Given the description of an element on the screen output the (x, y) to click on. 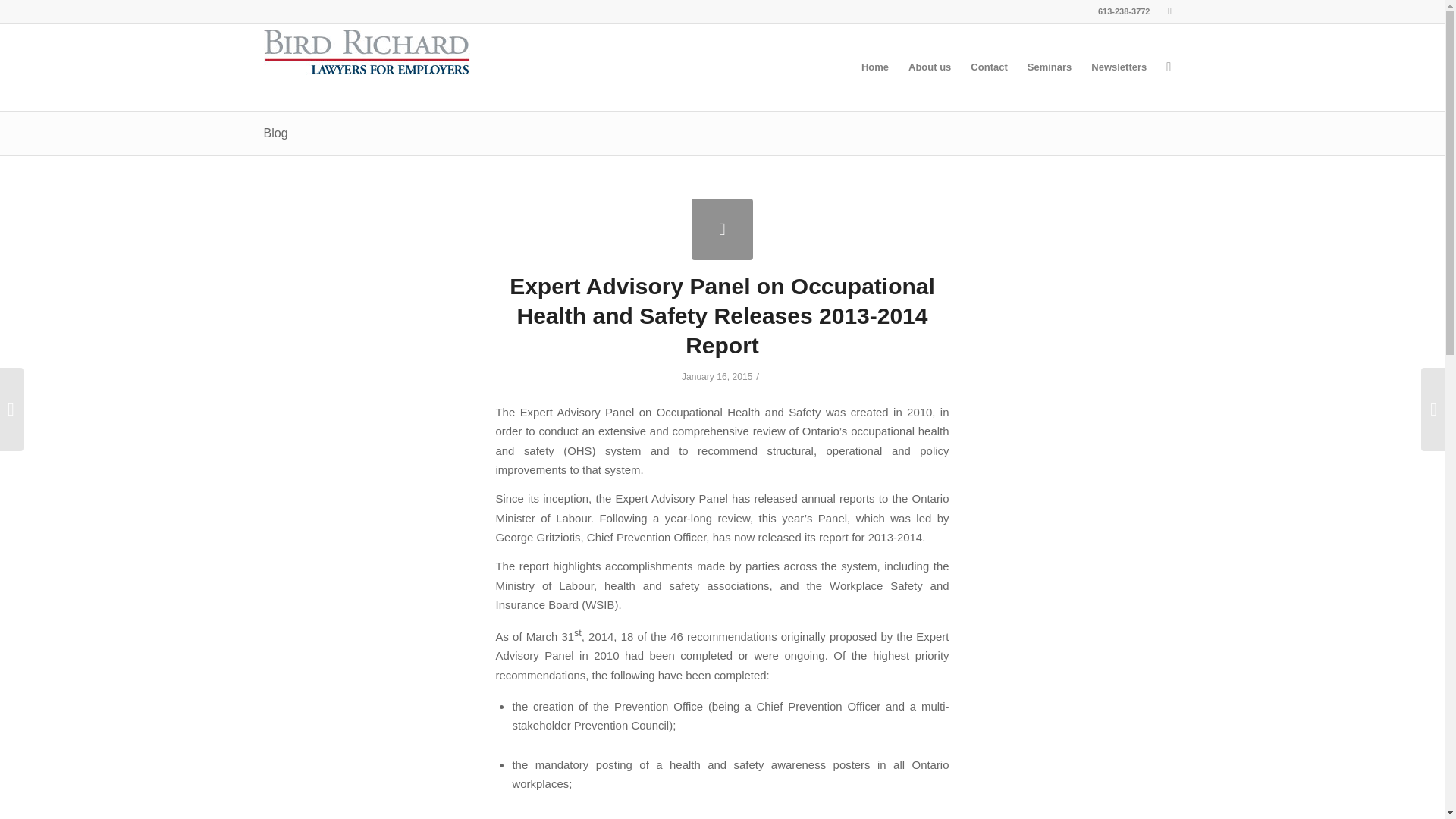
Blog (275, 132)
Mail (1169, 11)
Permanent Link: Blog (275, 132)
